Given the description of an element on the screen output the (x, y) to click on. 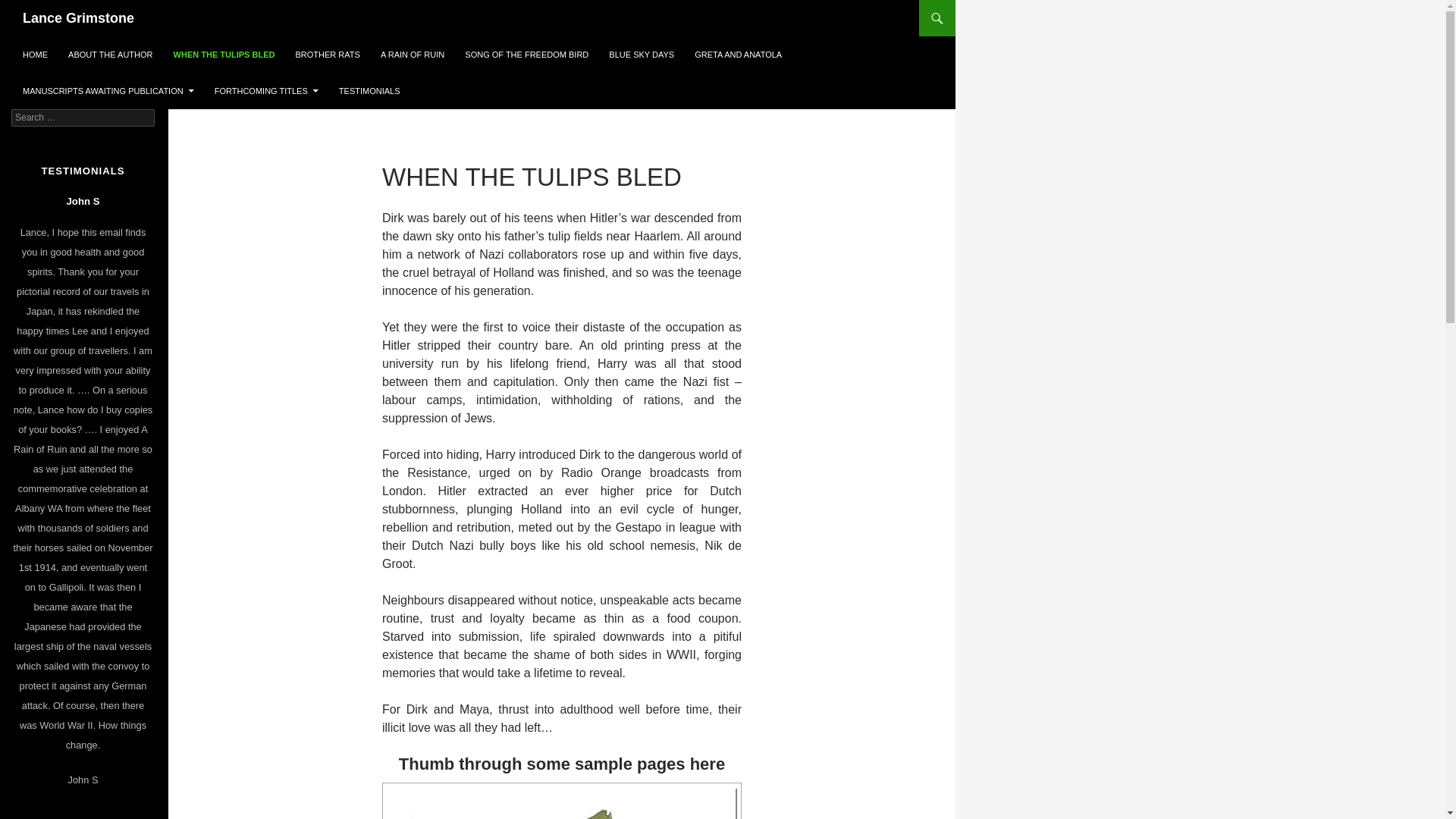
MANUSCRIPTS AWAITING PUBLICATION Element type: text (108, 90)
FORTHCOMING TITLES Element type: text (266, 90)
BLUE SKY DAYS Element type: text (641, 54)
TESTIMONIALS Element type: text (369, 90)
BROTHER RATS Element type: text (326, 54)
WHEN THE TULIPS BLED Element type: text (224, 54)
SKIP TO CONTENT Element type: text (21, 35)
Lance Grimstone Element type: text (78, 18)
A RAIN OF RUIN Element type: text (412, 54)
SONG OF THE FREEDOM BIRD Element type: text (526, 54)
ABOUT THE AUTHOR Element type: text (110, 54)
GRETA AND ANATOLA Element type: text (737, 54)
HOME Element type: text (34, 54)
Search Element type: text (30, 8)
